Given the description of an element on the screen output the (x, y) to click on. 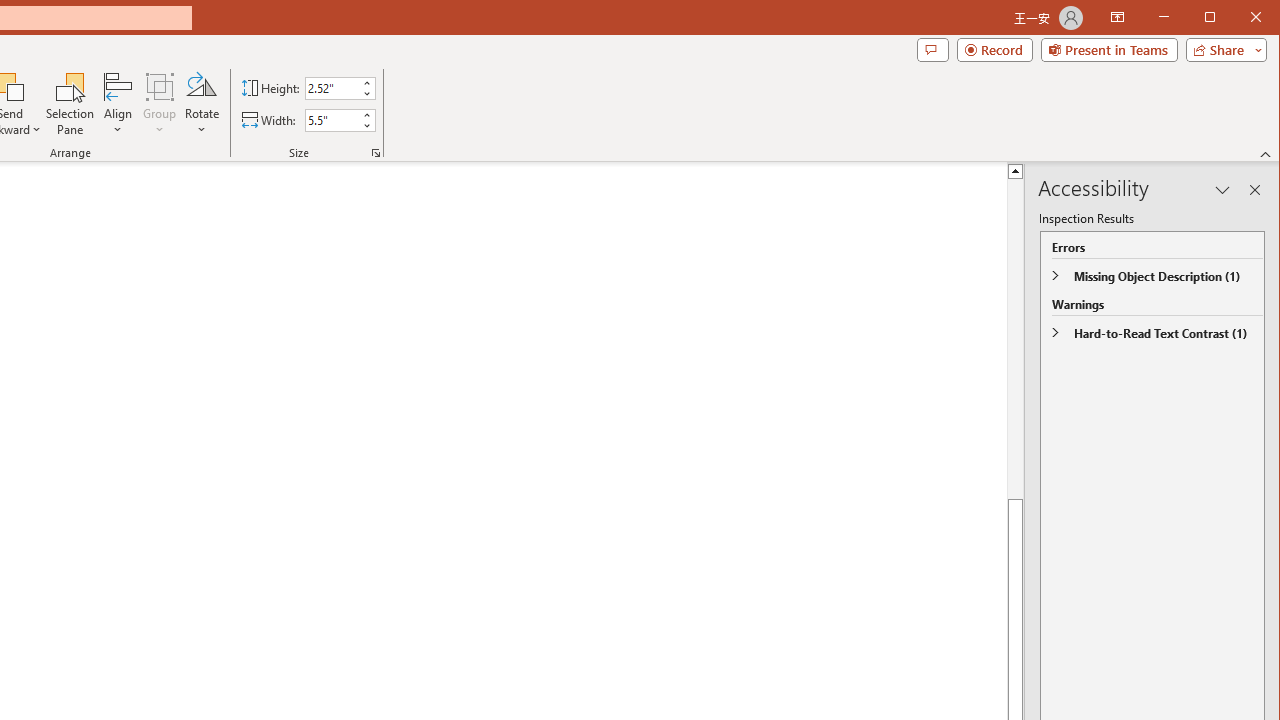
Maximize (1238, 18)
Align (118, 104)
Less (366, 125)
Shape Width (331, 120)
